Given the description of an element on the screen output the (x, y) to click on. 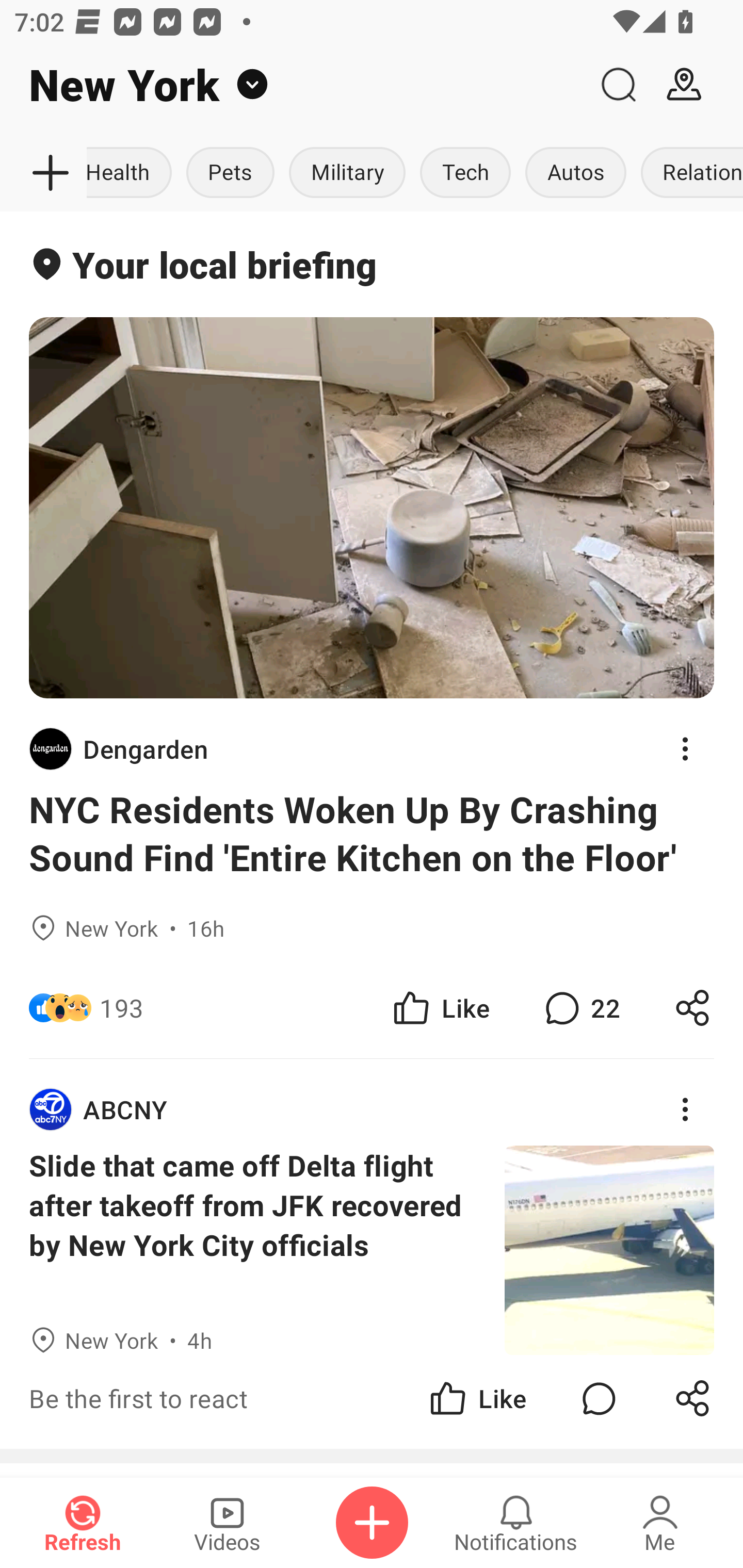
New York (292, 84)
Health (132, 172)
Pets (230, 172)
Military (347, 172)
Tech (465, 172)
Autos (575, 172)
Relationships (688, 172)
193 (121, 1007)
Like (439, 1007)
22 (579, 1007)
Be the first to react (244, 1397)
Like (476, 1397)
Videos (227, 1522)
Notifications (516, 1522)
Me (659, 1522)
